Given the description of an element on the screen output the (x, y) to click on. 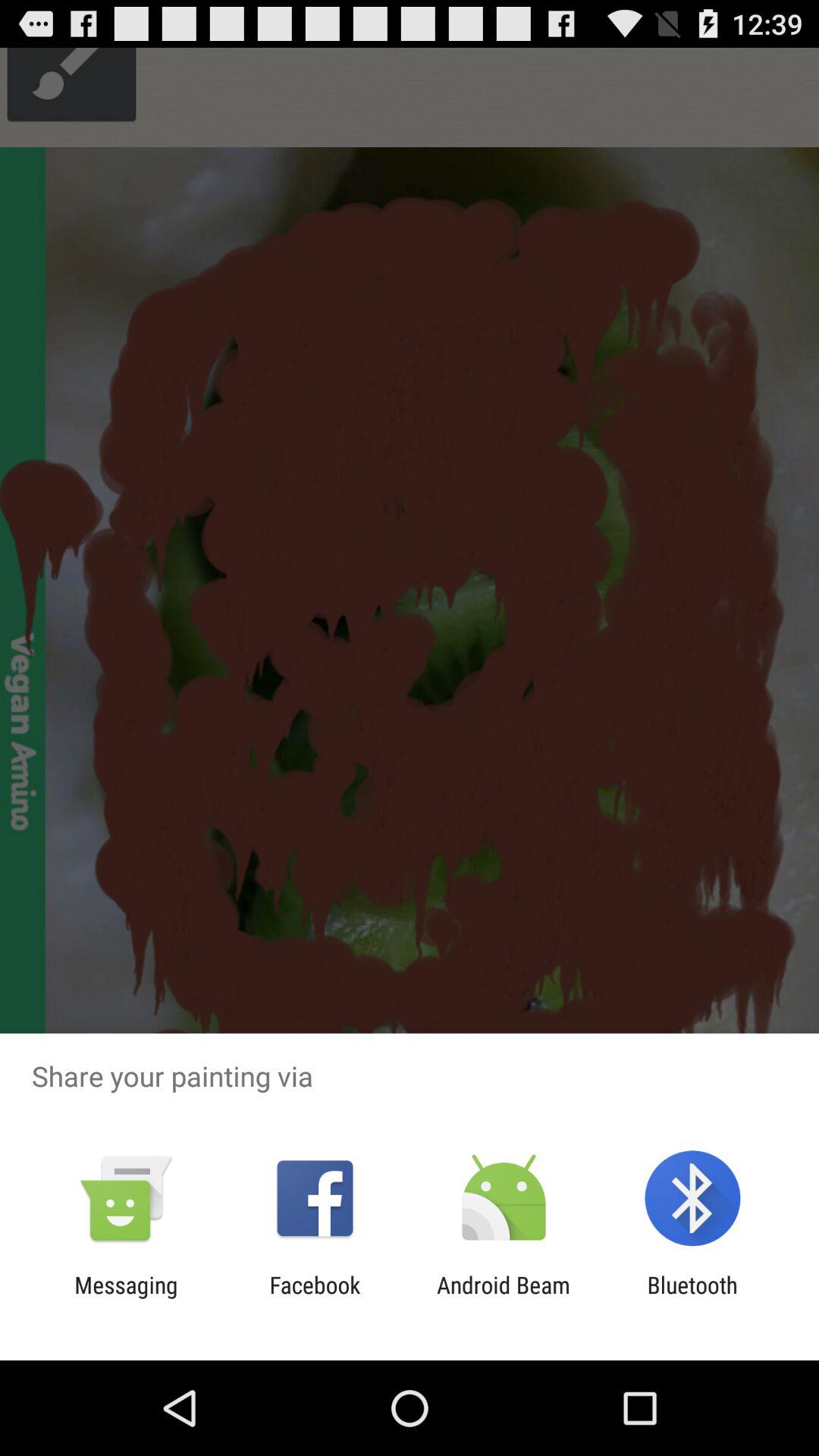
jump to the bluetooth app (692, 1298)
